Given the description of an element on the screen output the (x, y) to click on. 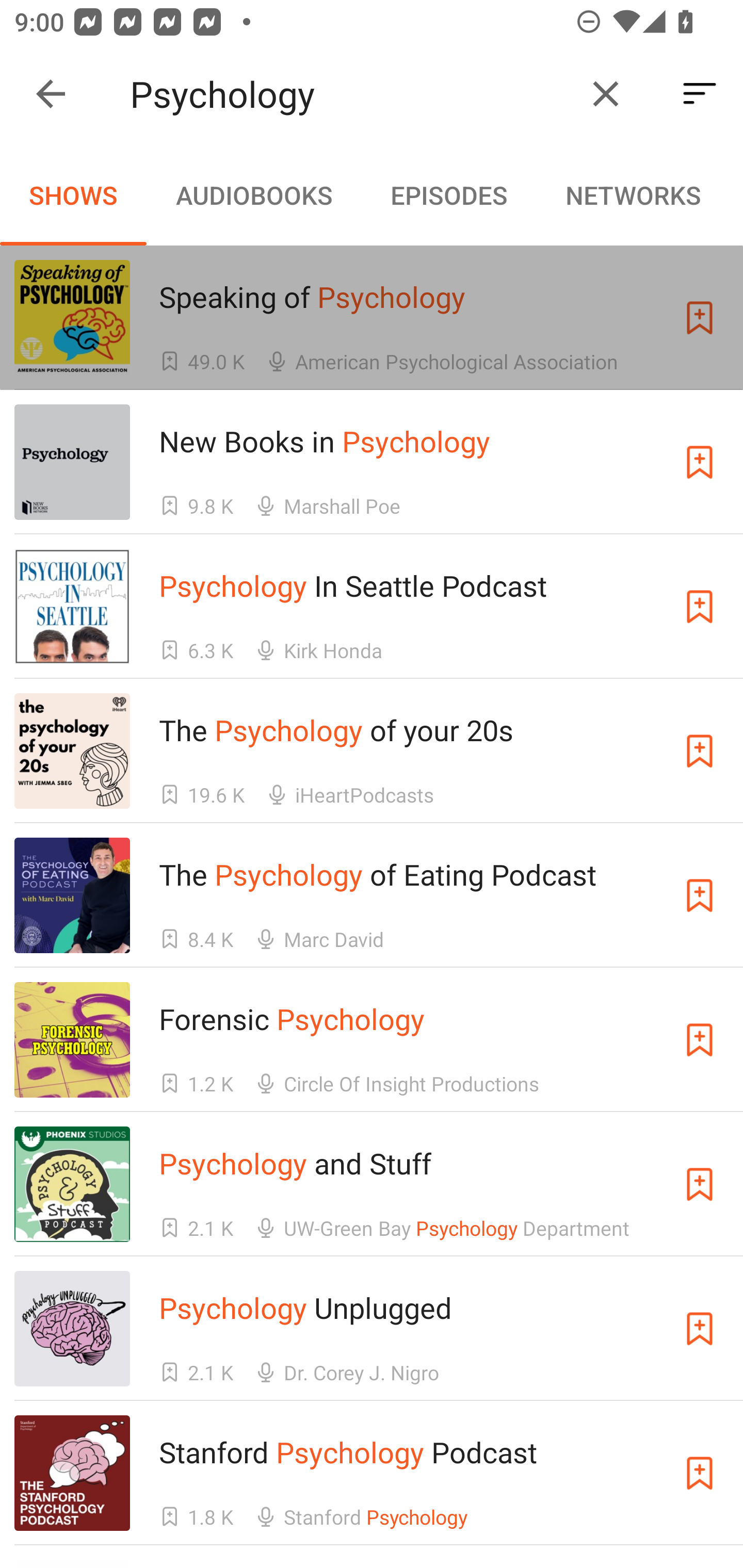
Collapse (50, 93)
Clear query (605, 93)
Sort By (699, 93)
Psychology (349, 94)
SHOWS (73, 195)
AUDIOBOOKS (253, 195)
EPISODES (448, 195)
NETWORKS (632, 195)
Subscribe (699, 317)
Subscribe (699, 462)
Subscribe (699, 606)
Subscribe (699, 751)
Subscribe (699, 895)
Subscribe (699, 1039)
Subscribe (699, 1183)
Subscribe (699, 1328)
Subscribe (699, 1472)
